Given the description of an element on the screen output the (x, y) to click on. 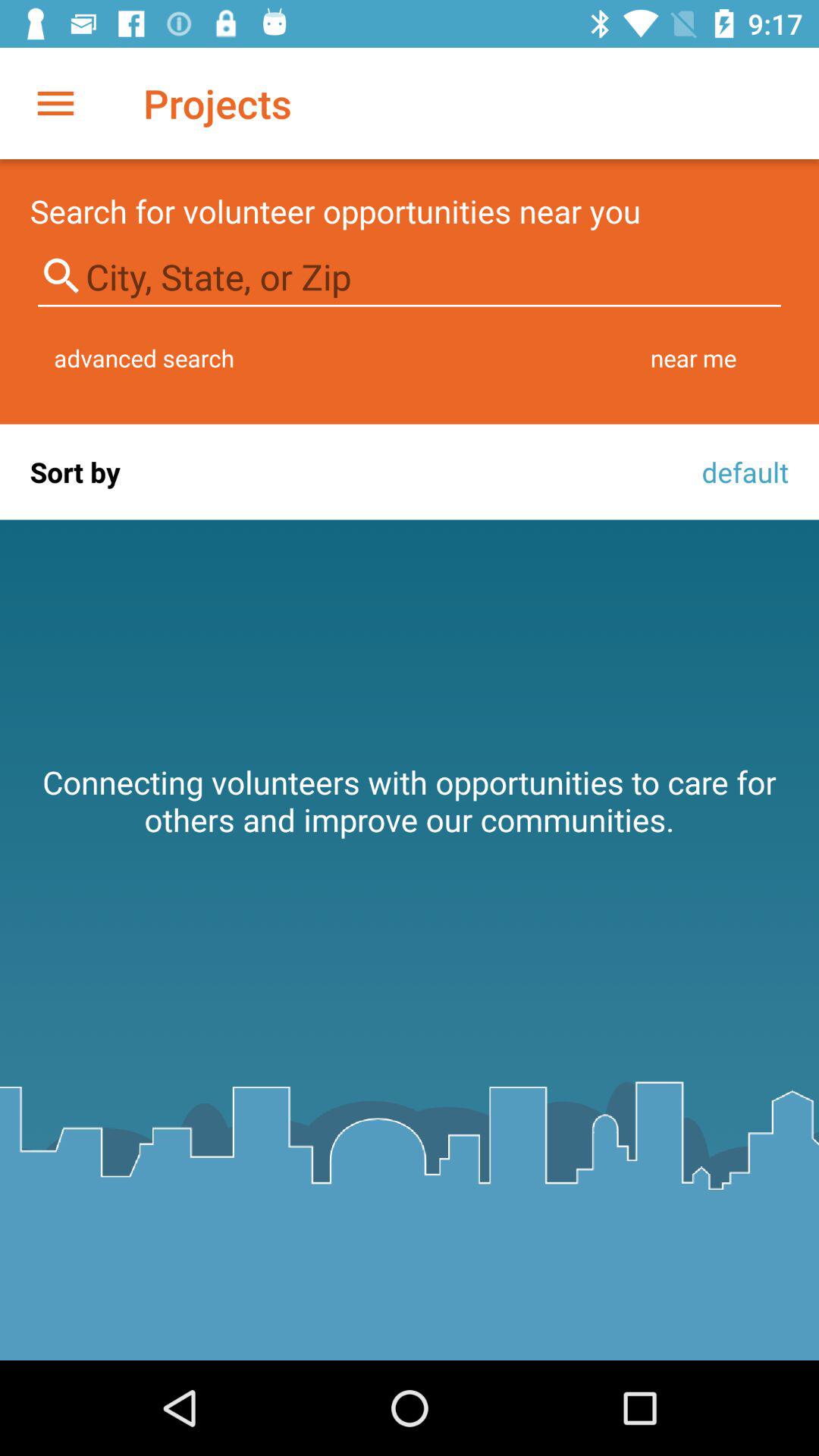
swipe until default icon (740, 471)
